Given the description of an element on the screen output the (x, y) to click on. 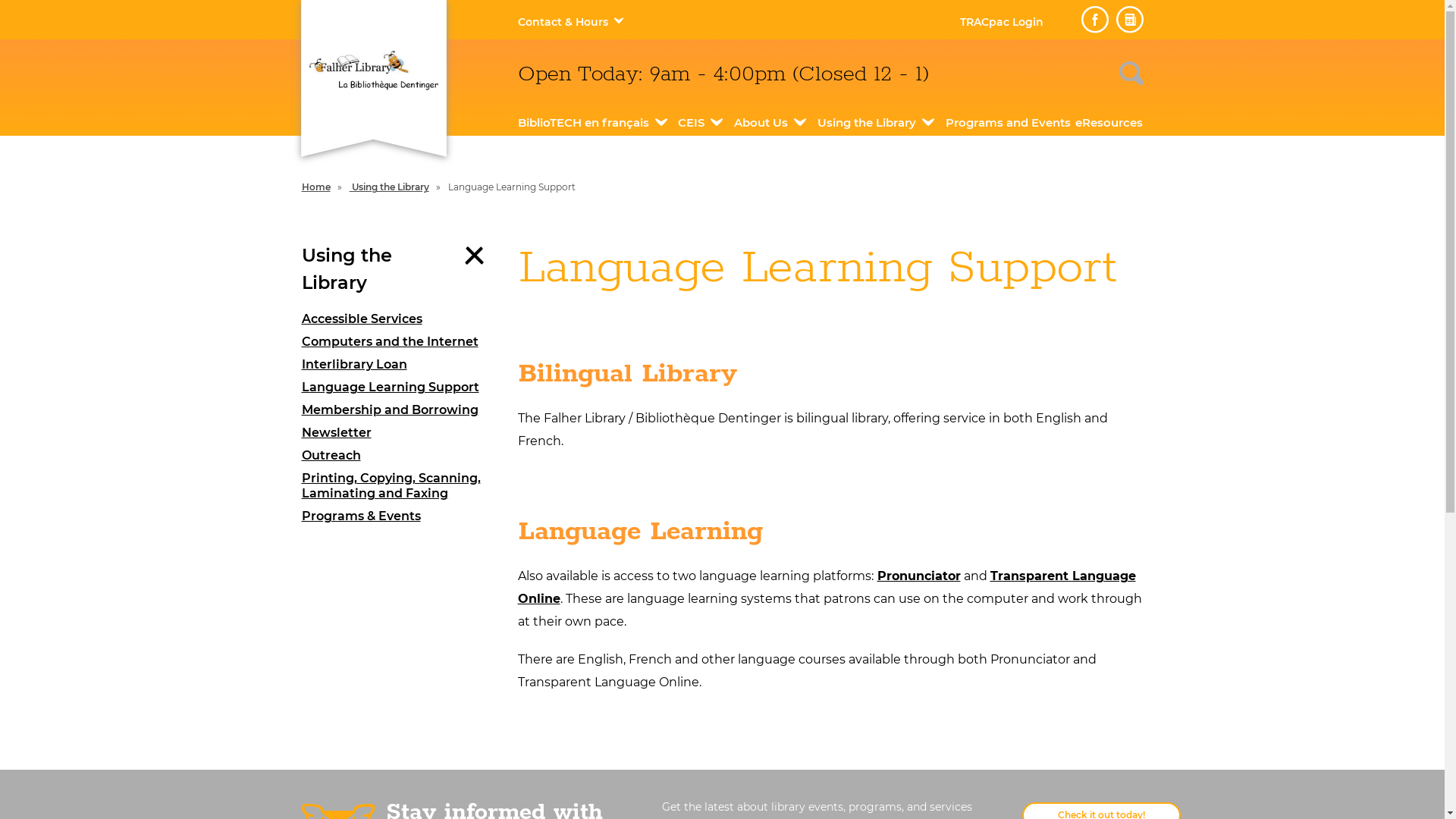
Newsletter sign up Element type: hover (1129, 19)
Outreach Element type: text (398, 455)
Using the Library Element type: text (866, 122)
Newsletter Element type: text (398, 432)
CEIS Element type: text (690, 122)
Transparent Language Online Element type: text (826, 586)
Computers and the Internet Element type: text (398, 341)
eResources Element type: text (1108, 122)
Using the Library
Toggle navigation Element type: text (398, 268)
Interlibrary Loan Element type: text (398, 364)
Programs and Events Element type: text (1007, 122)
TRACpac Login Element type: text (1001, 21)
Facebook Element type: hover (1094, 19)
About Us Element type: text (760, 122)
Membership and Borrowing Element type: text (398, 409)
Programs & Events Element type: text (398, 516)
Language Learning Support Element type: text (398, 387)
Home Element type: text (315, 186)
Using the Library Element type: text (389, 186)
Printing, Copying, Scanning, Laminating and Faxing Element type: text (398, 486)
Accessible Services Element type: text (398, 318)
Contact & Hours Element type: text (562, 21)
Pronunciator Element type: text (918, 575)
